Given the description of an element on the screen output the (x, y) to click on. 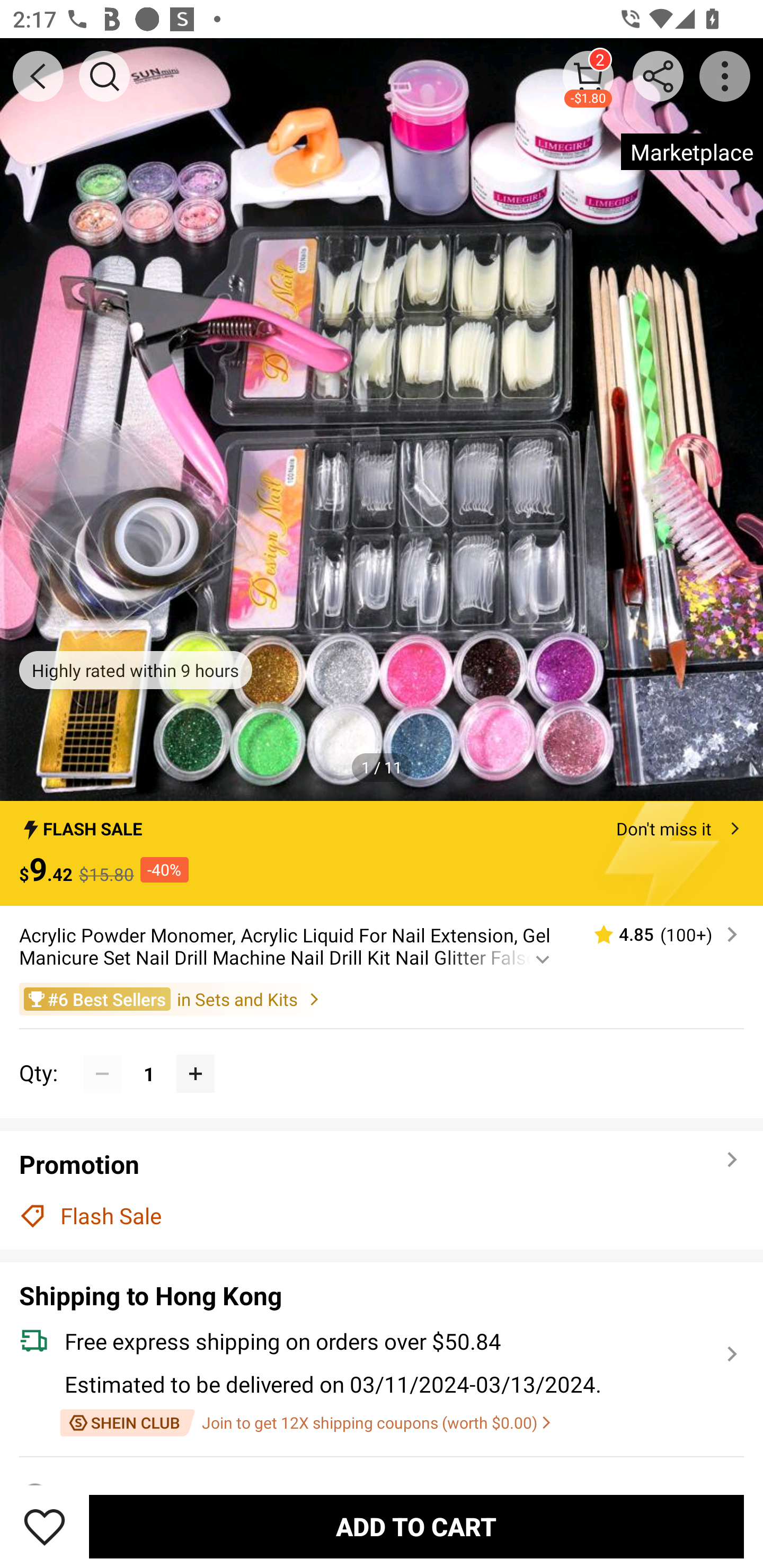
BACK (38, 75)
2 -$1.80 (588, 75)
1 / 11 (381, 766)
FLASH SALE Don't miss it $9.42 $15.80 -40% (381, 853)
FLASH SALE Don't miss it (381, 823)
4.85 (100‎+) (658, 934)
#6 Best Sellers in Sets and Kits (381, 999)
Qty: 1 (381, 1054)
Promotion Flash Sale (381, 1189)
Join to get 12X shipping coupons (worth $0.00) (305, 1422)
ADD TO CART (416, 1526)
Save (44, 1526)
